Given the description of an element on the screen output the (x, y) to click on. 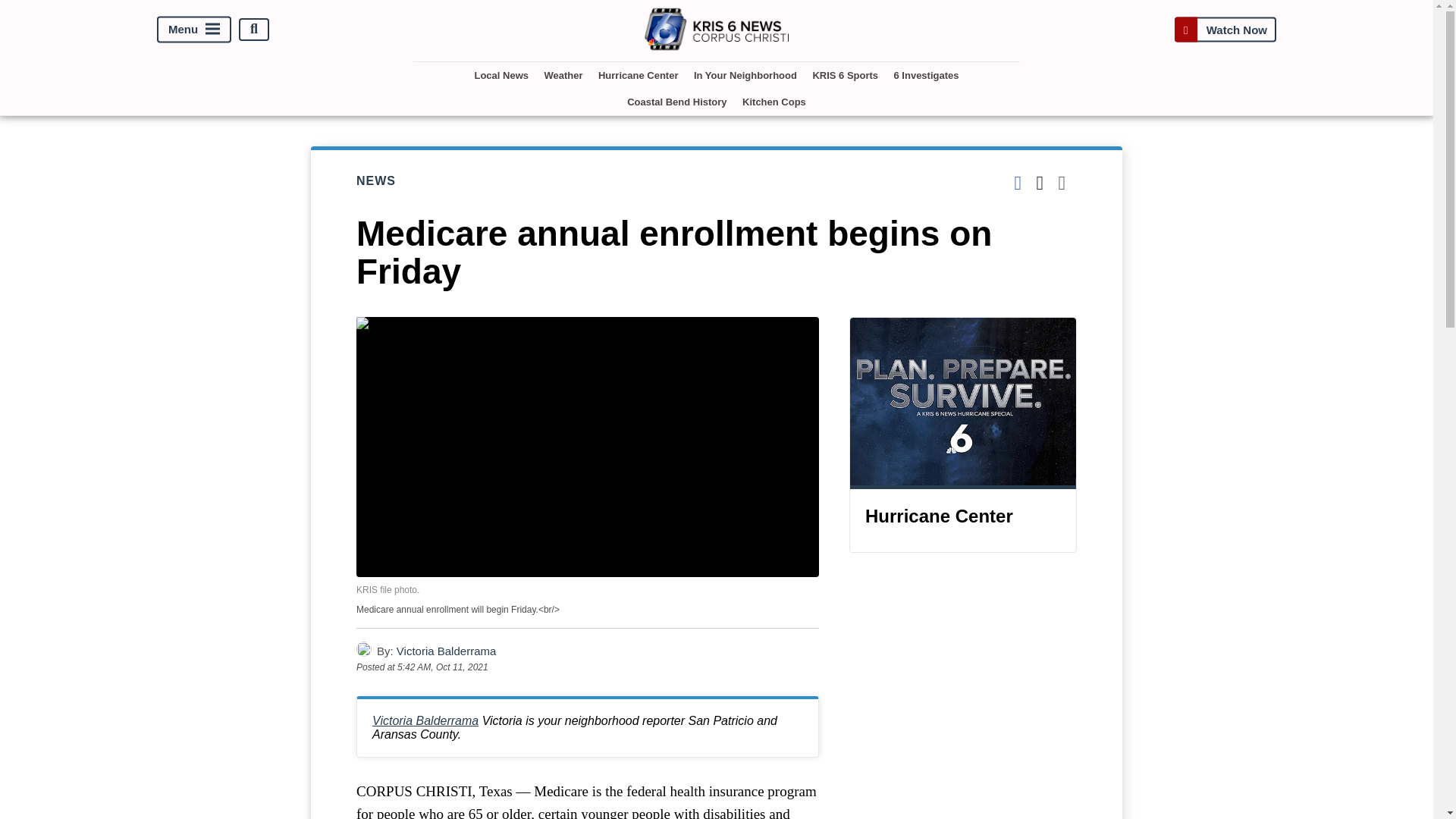
Menu (194, 28)
Watch Now (1224, 29)
